Given the description of an element on the screen output the (x, y) to click on. 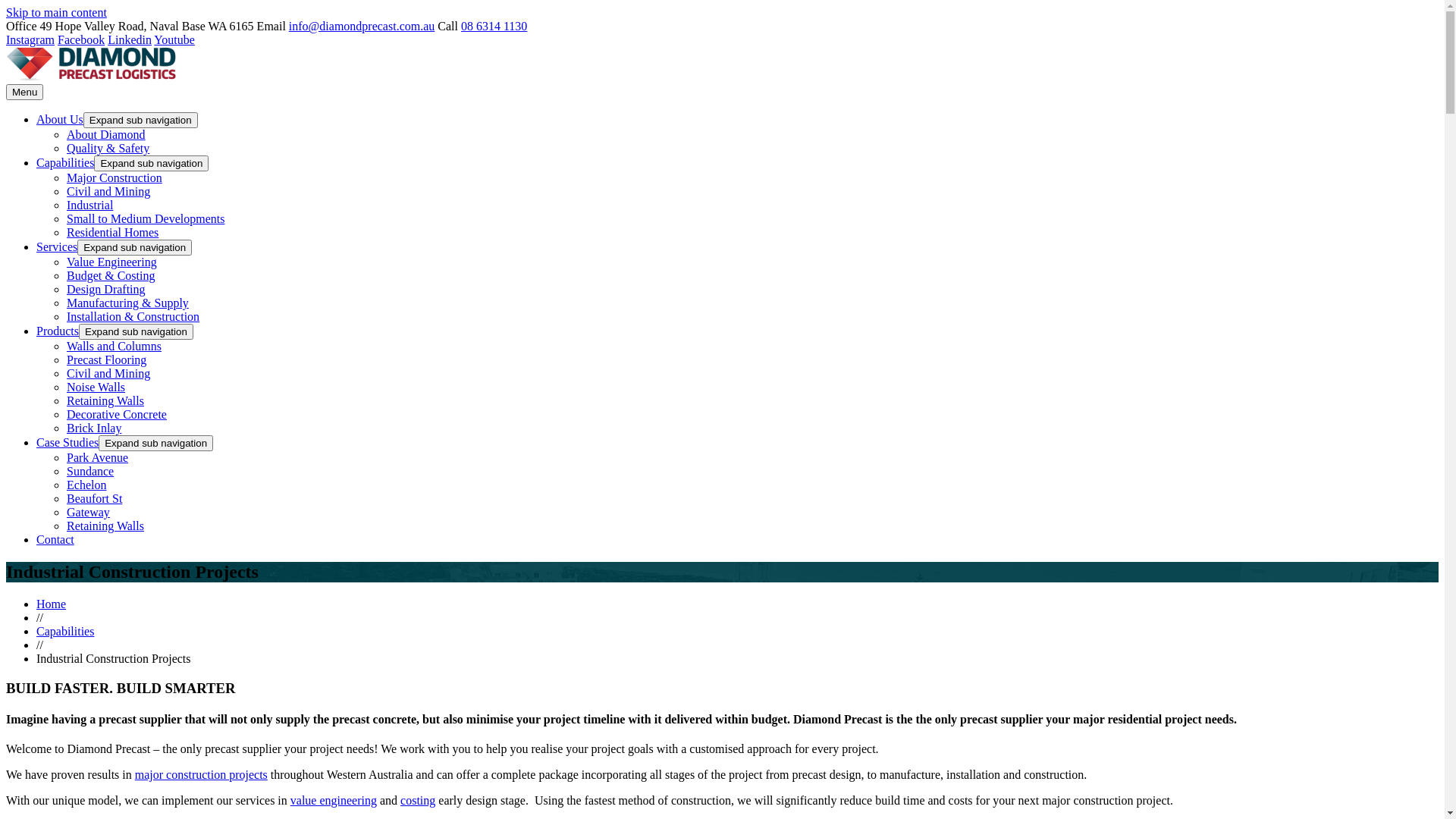
About Diamond Element type: text (105, 134)
costing Element type: text (417, 799)
Case Studies Element type: text (67, 442)
Services Element type: text (56, 246)
Linkedin Element type: text (129, 39)
Expand sub navigation Element type: text (134, 247)
Civil and Mining Element type: text (108, 191)
Echelon Element type: text (86, 484)
Expand sub navigation Element type: text (151, 163)
Capabilities Element type: text (65, 162)
Products Element type: text (57, 330)
Instagram Element type: text (30, 39)
Retaining Walls Element type: text (105, 400)
Manufacturing & Supply Element type: text (127, 302)
Brick Inlay Element type: text (93, 427)
About Us Element type: text (59, 118)
Skip to main content Element type: text (56, 12)
Decorative Concrete Element type: text (116, 413)
Youtube Element type: text (173, 39)
Expand sub navigation Element type: text (135, 331)
Park Avenue Element type: text (97, 457)
Precast Flooring Element type: text (106, 359)
Design Drafting Element type: text (105, 288)
Facebook Element type: text (80, 39)
Small to Medium Developments Element type: text (145, 218)
Residential Homes Element type: text (112, 231)
Civil and Mining Element type: text (108, 373)
Industrial Element type: text (89, 204)
Home Element type: text (50, 603)
Quality & Safety Element type: text (107, 147)
Major Construction Element type: text (114, 177)
major construction projects Element type: text (200, 774)
Gateway Element type: text (87, 511)
Capabilities Element type: text (65, 630)
Walls and Columns Element type: text (113, 345)
Noise Walls Element type: text (95, 386)
Contact Element type: text (55, 539)
info@diamondprecast.com.au Element type: text (361, 25)
Expand sub navigation Element type: text (140, 120)
Budget & Costing Element type: text (110, 275)
Sundance Element type: text (89, 470)
Beaufort St Element type: text (94, 498)
value engineering Element type: text (333, 799)
Value Engineering Element type: text (111, 261)
Menu Element type: text (24, 92)
08 6314 1130 Element type: text (494, 25)
Expand sub navigation Element type: text (155, 443)
Retaining Walls Element type: text (105, 525)
Installation & Construction Element type: text (132, 316)
